Given the description of an element on the screen output the (x, y) to click on. 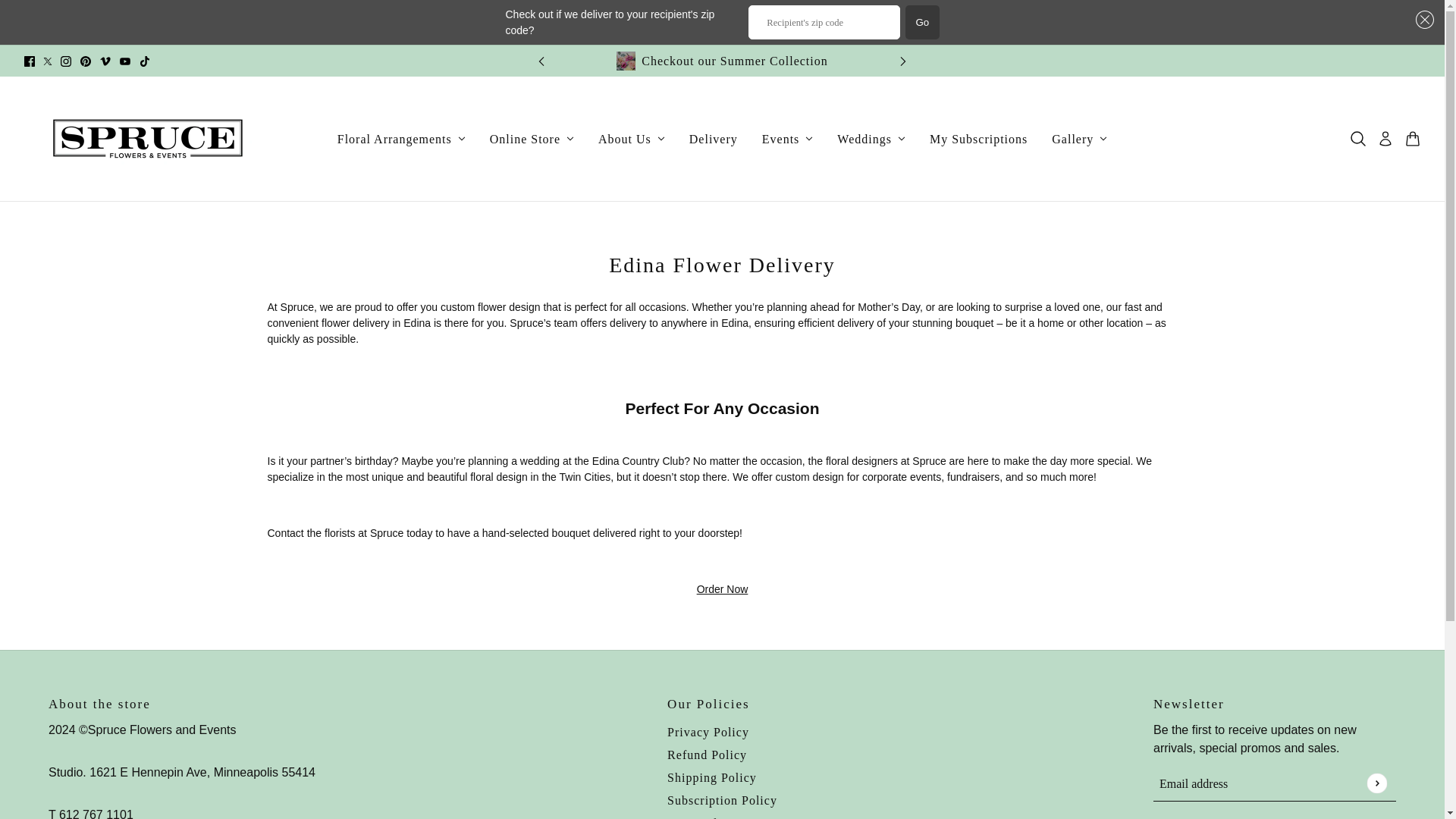
Shipping Policy (711, 777)
Privacy Policy (707, 731)
Spruce Flowers and Events (147, 138)
Refund Policy (706, 754)
Subscription Policy (721, 799)
Checkout our Summer Collection (721, 60)
Terms of Service (713, 817)
Floral Arrangements (400, 138)
